Given the description of an element on the screen output the (x, y) to click on. 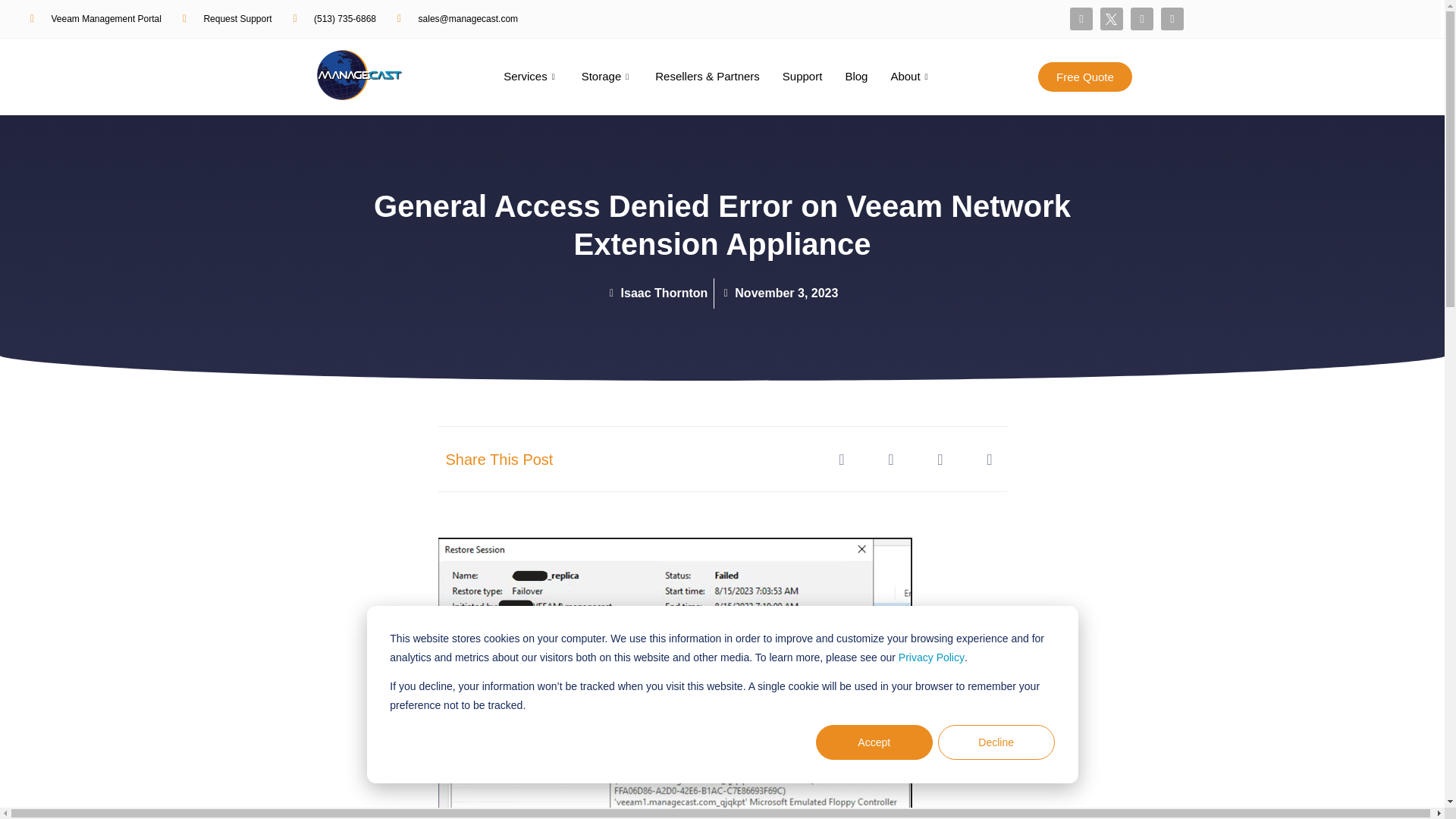
Request Support (227, 18)
Storage (607, 76)
Services (531, 76)
Support (802, 76)
Veeam Management Portal (95, 18)
